Given the description of an element on the screen output the (x, y) to click on. 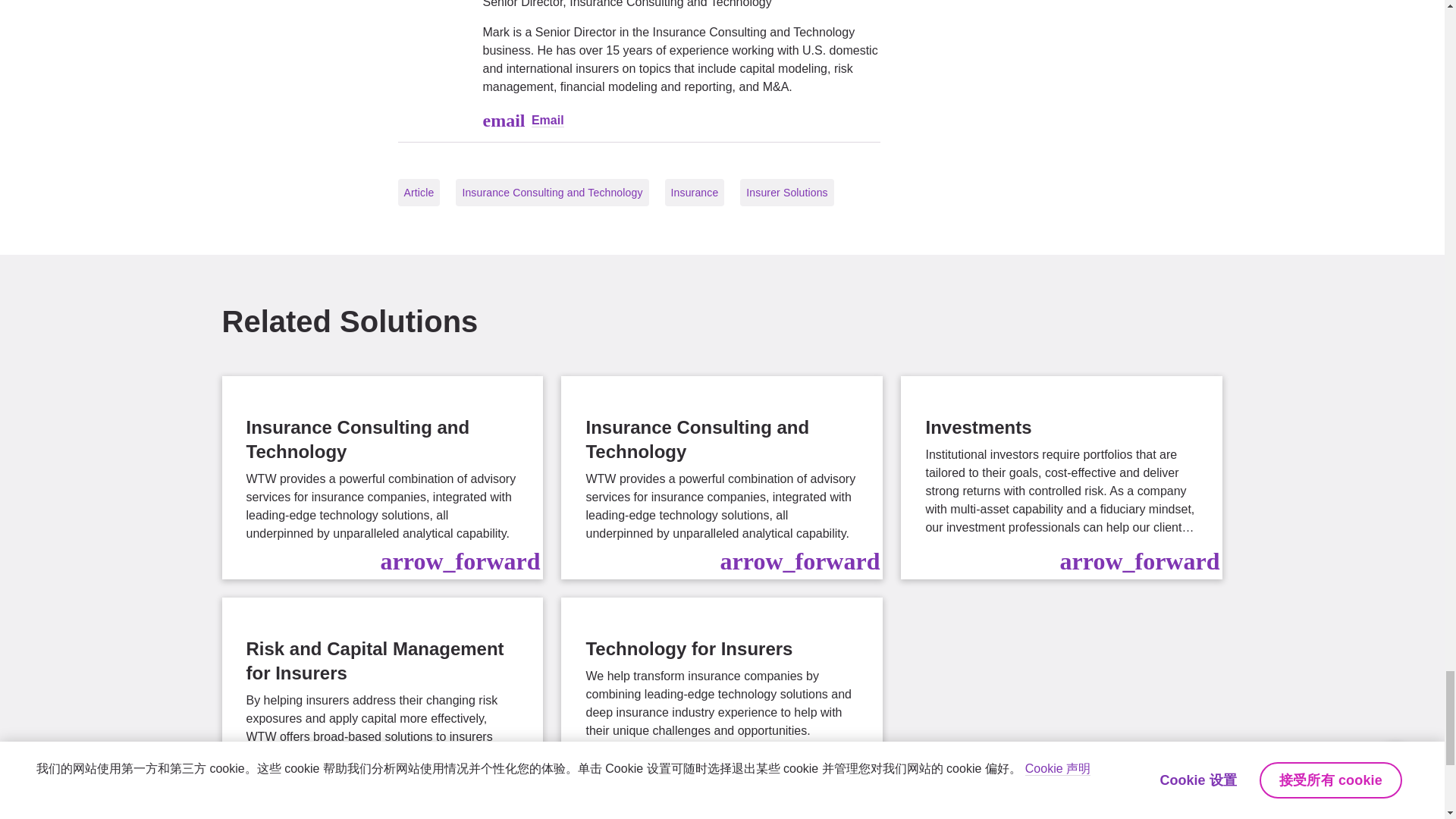
Technology for Insurers (721, 708)
Insurance Consulting and Technology (721, 477)
Risk and Capital Management for Insurers (382, 708)
Insurance Consulting and Technology (382, 477)
Investments (1062, 477)
